Given the description of an element on the screen output the (x, y) to click on. 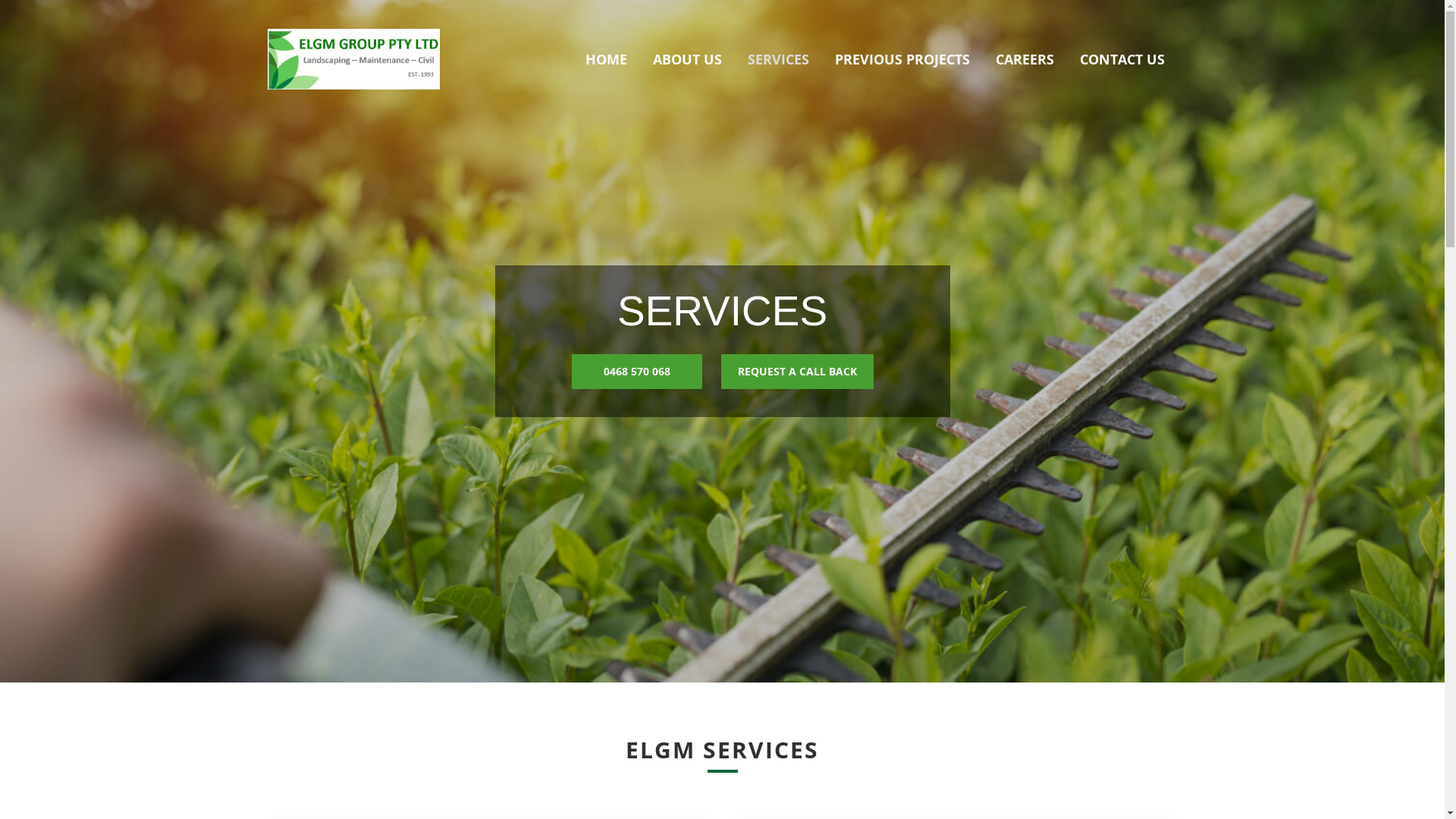
REQUEST A CALL BACK Element type: text (797, 371)
ABOUT US Element type: text (687, 59)
CAREERS Element type: text (1024, 59)
     0468 570 068      Element type: text (636, 371)
HOME Element type: text (605, 59)
PREVIOUS PROJECTS Element type: text (902, 59)
SERVICES Element type: text (777, 59)
CONTACT US Element type: text (1121, 59)
